Given the description of an element on the screen output the (x, y) to click on. 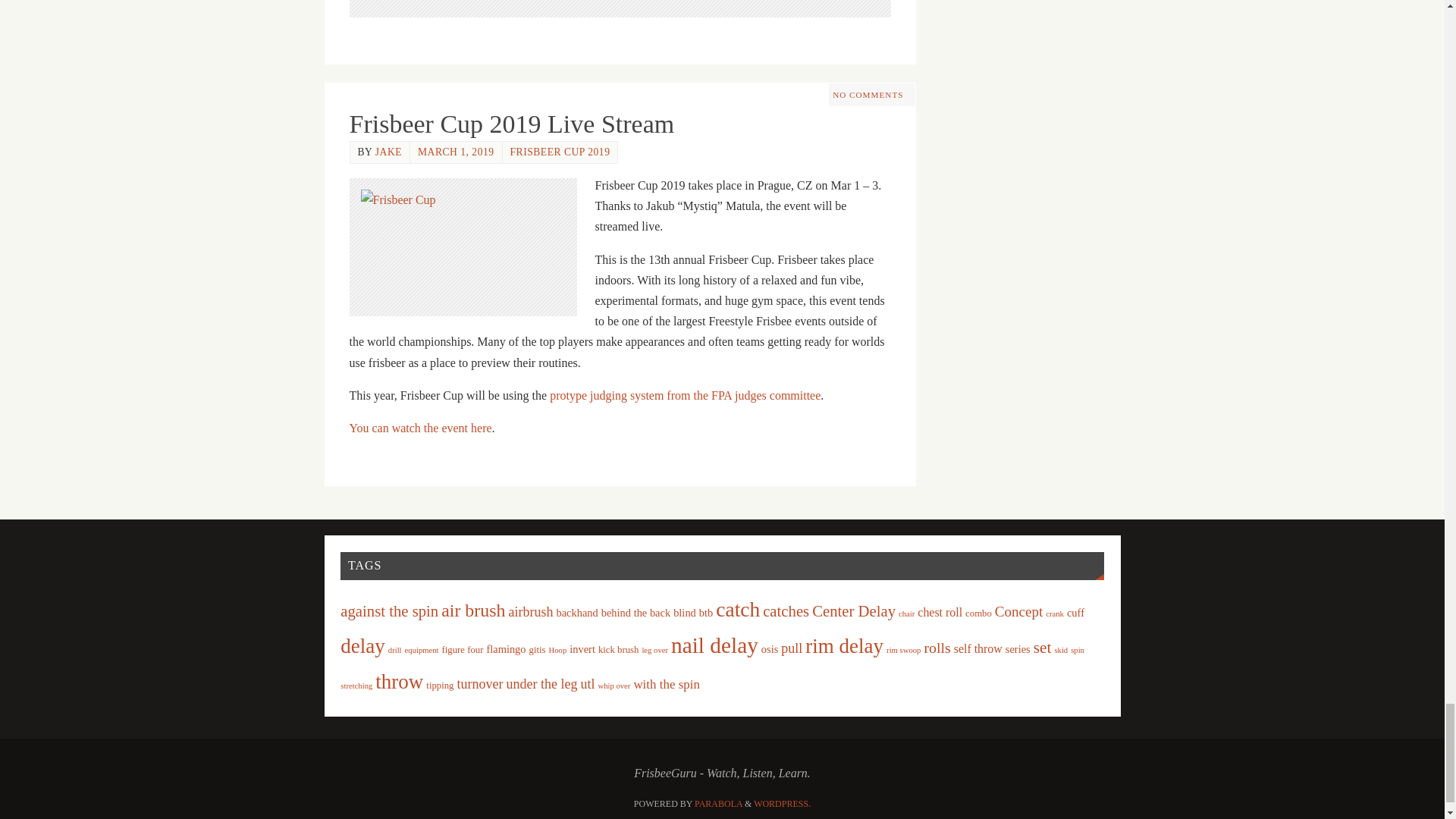
Permalink to Frisbeer Cup 2019 Live Stream (511, 123)
View all posts by Jake (388, 152)
